Given the description of an element on the screen output the (x, y) to click on. 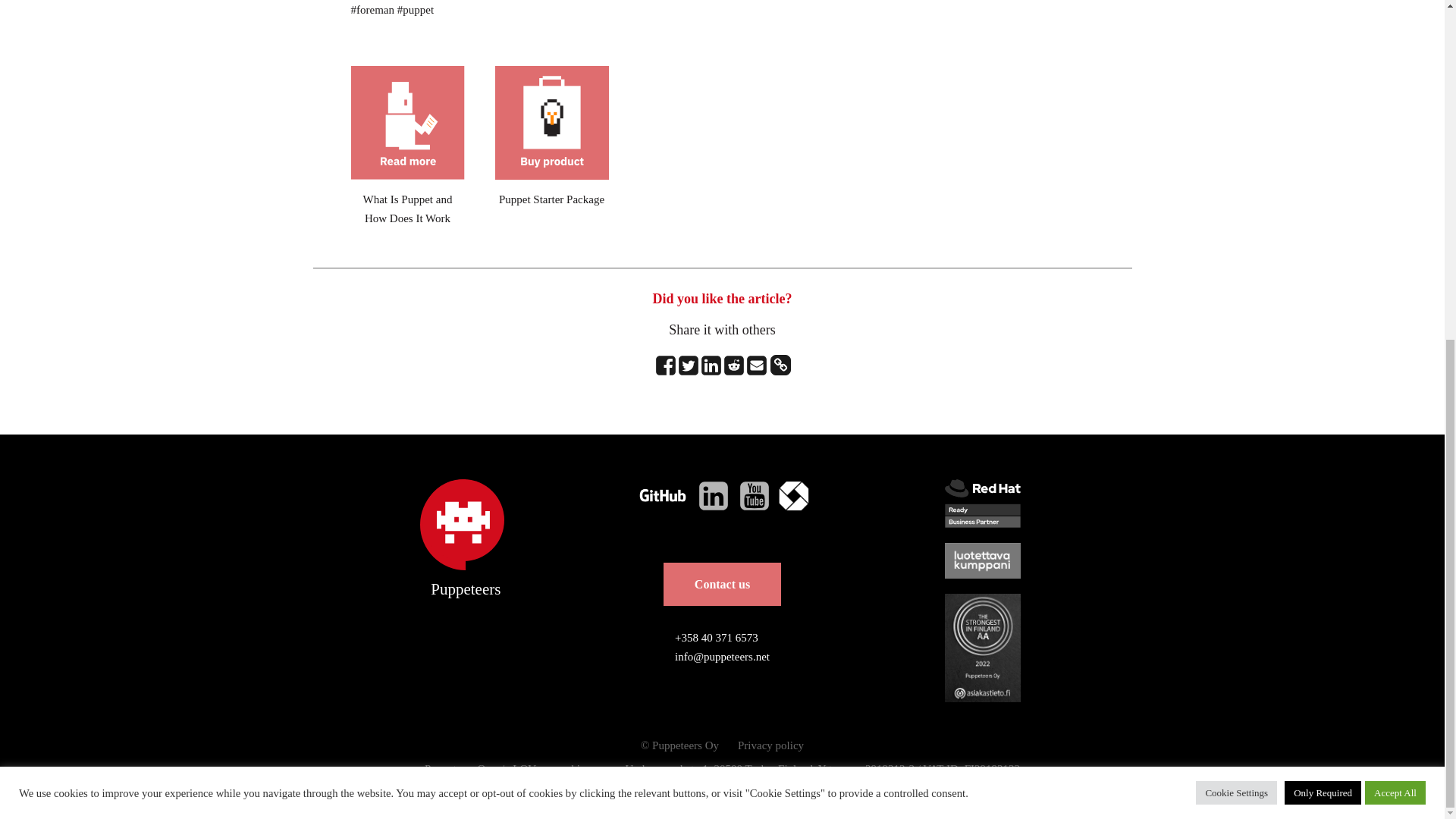
Share on Reddit (733, 364)
Privacy policy (770, 746)
Share on Facebook (665, 364)
Contact us (721, 584)
Share by email (755, 364)
Share on LinkedIn (710, 364)
Share on Twitter (687, 364)
